Given the description of an element on the screen output the (x, y) to click on. 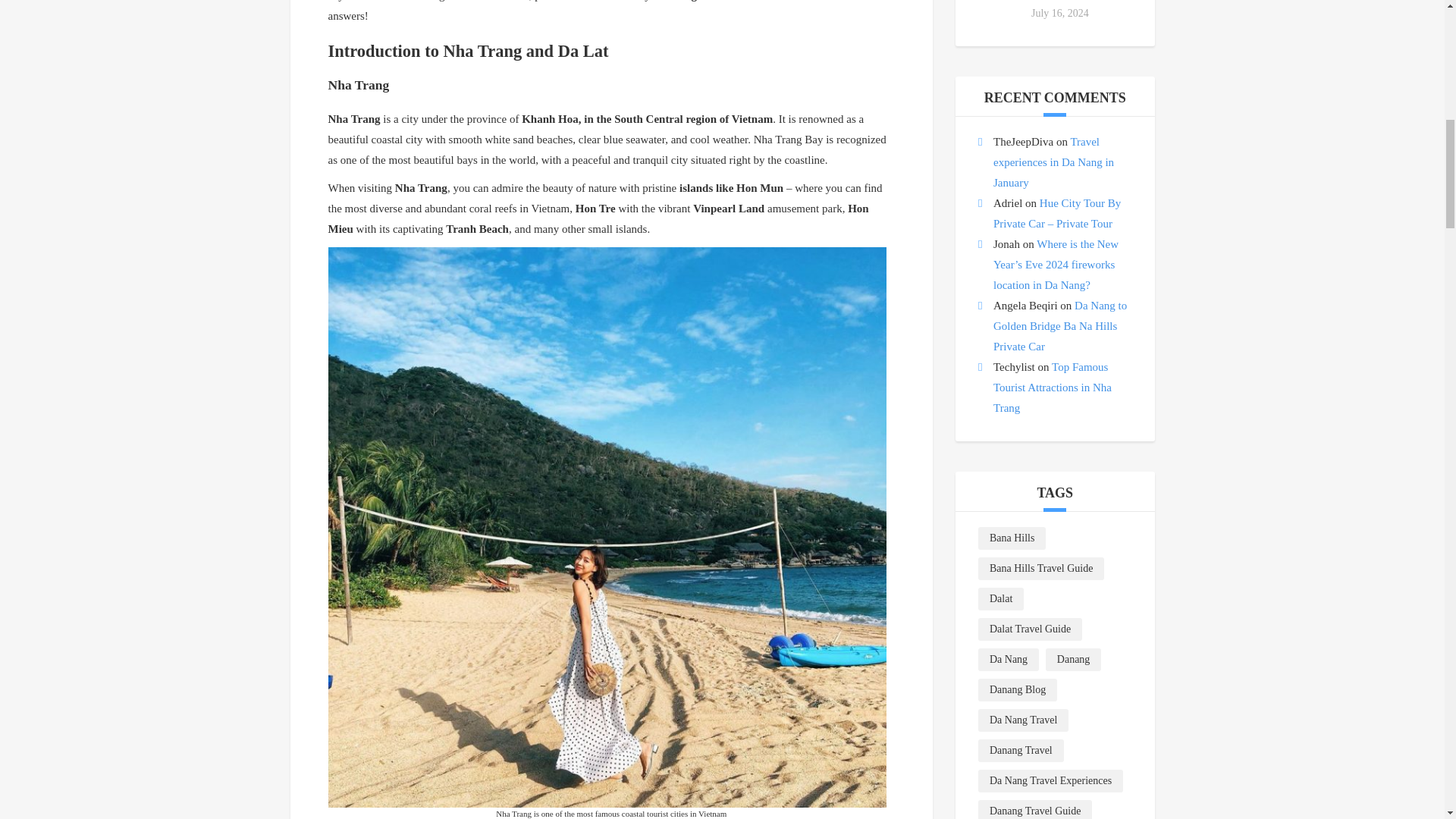
33 topics (1023, 720)
117 topics (1073, 659)
18 topics (1040, 568)
25 topics (1050, 780)
31 topics (1017, 689)
17 topics (1029, 629)
28 topics (1021, 750)
28 topics (1011, 538)
52 topics (1008, 659)
16 topics (1000, 599)
78 topics (1035, 809)
